Given the description of an element on the screen output the (x, y) to click on. 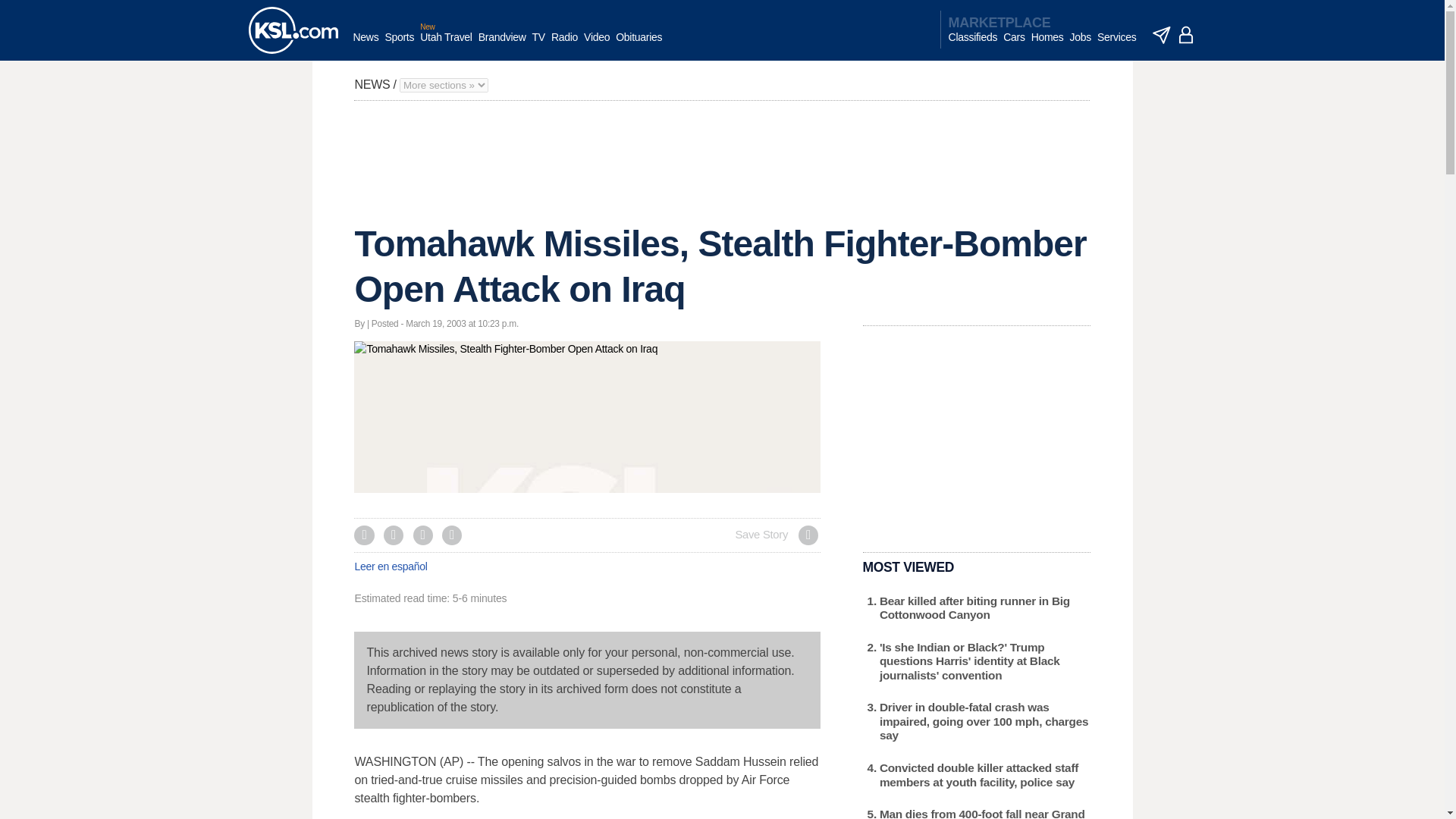
Utah Travel (445, 45)
Brandview (502, 45)
KSL homepage (292, 30)
account - logged out (1185, 34)
KSL homepage (292, 29)
Sports (398, 45)
